Given the description of an element on the screen output the (x, y) to click on. 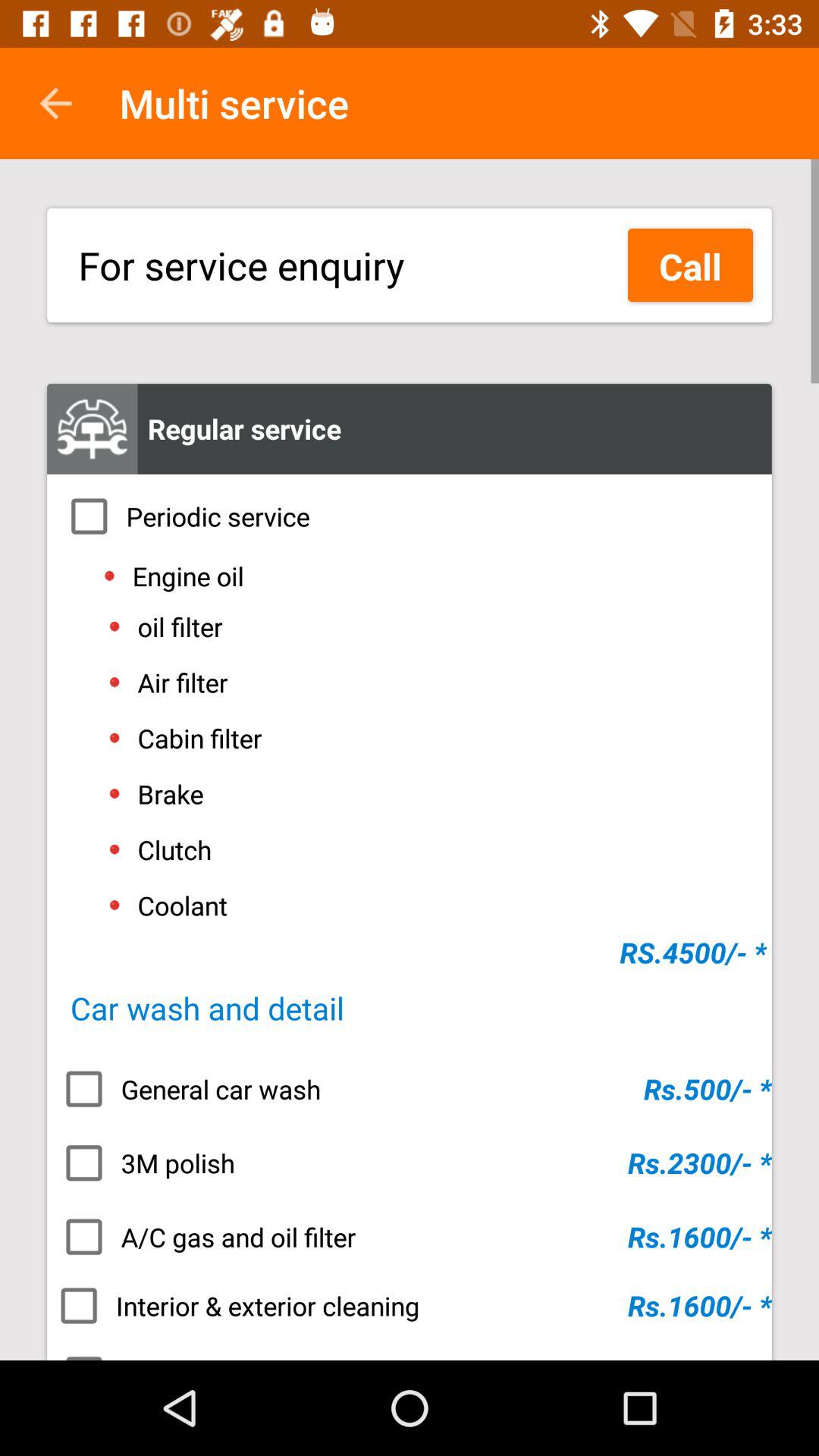
open icon next to for service enquiry (690, 265)
